Given the description of an element on the screen output the (x, y) to click on. 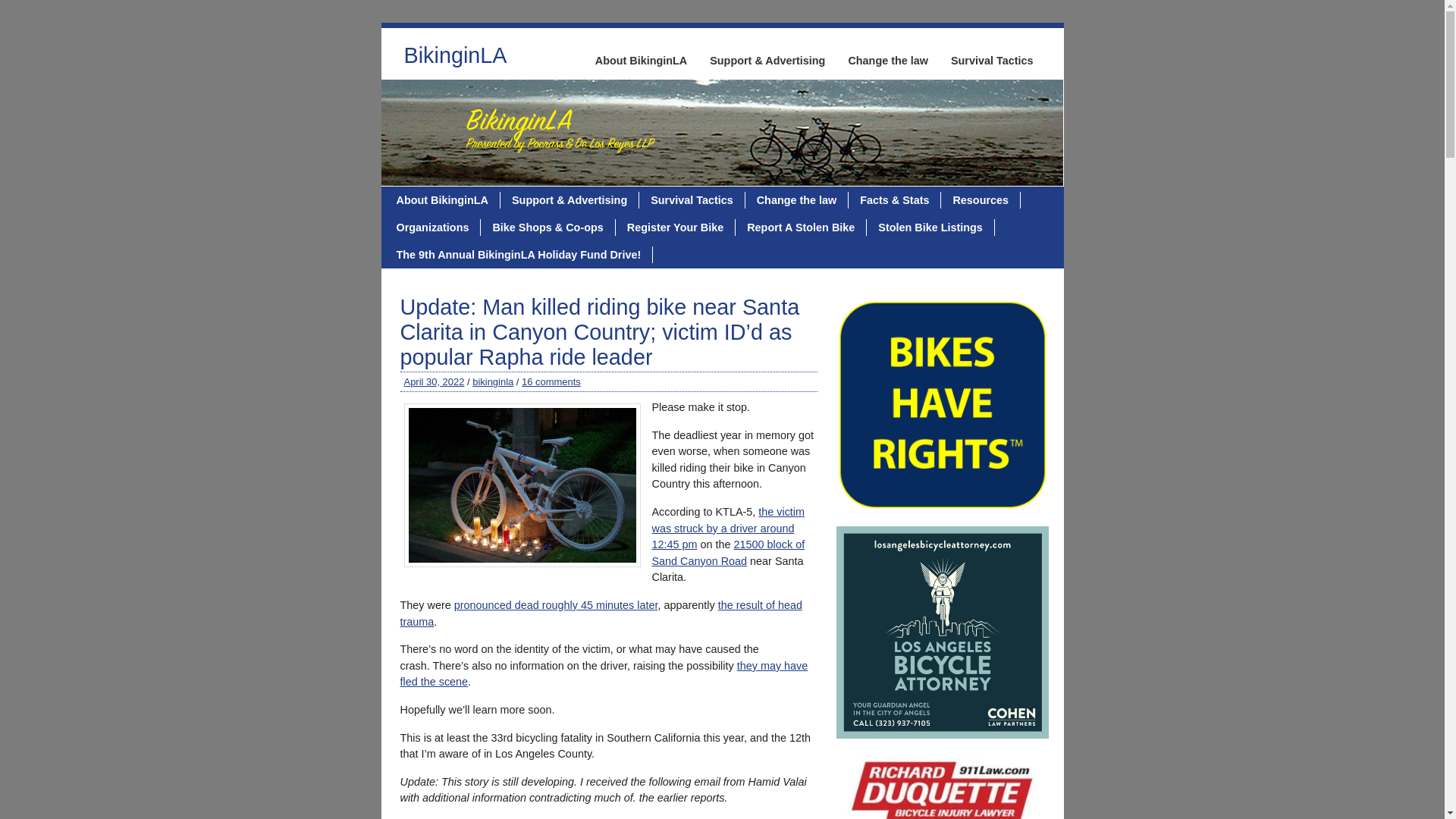
bikinginla (492, 381)
Stolen Bike Listings (930, 227)
21500 block of Sand Canyon Road (728, 552)
Change the law (887, 60)
BikinginLA (454, 59)
Register Your Bike (675, 227)
Change the law (796, 199)
April 30, 2022 (433, 381)
Resources (980, 199)
About BikinginLA (640, 60)
pronounced dead roughly 45 minutes later (556, 604)
16 comments (550, 381)
the result of head trauma (601, 613)
Report A Stolen Bike (800, 227)
The 9th Annual BikinginLA Holiday Fund Drive! (519, 254)
